Given the description of an element on the screen output the (x, y) to click on. 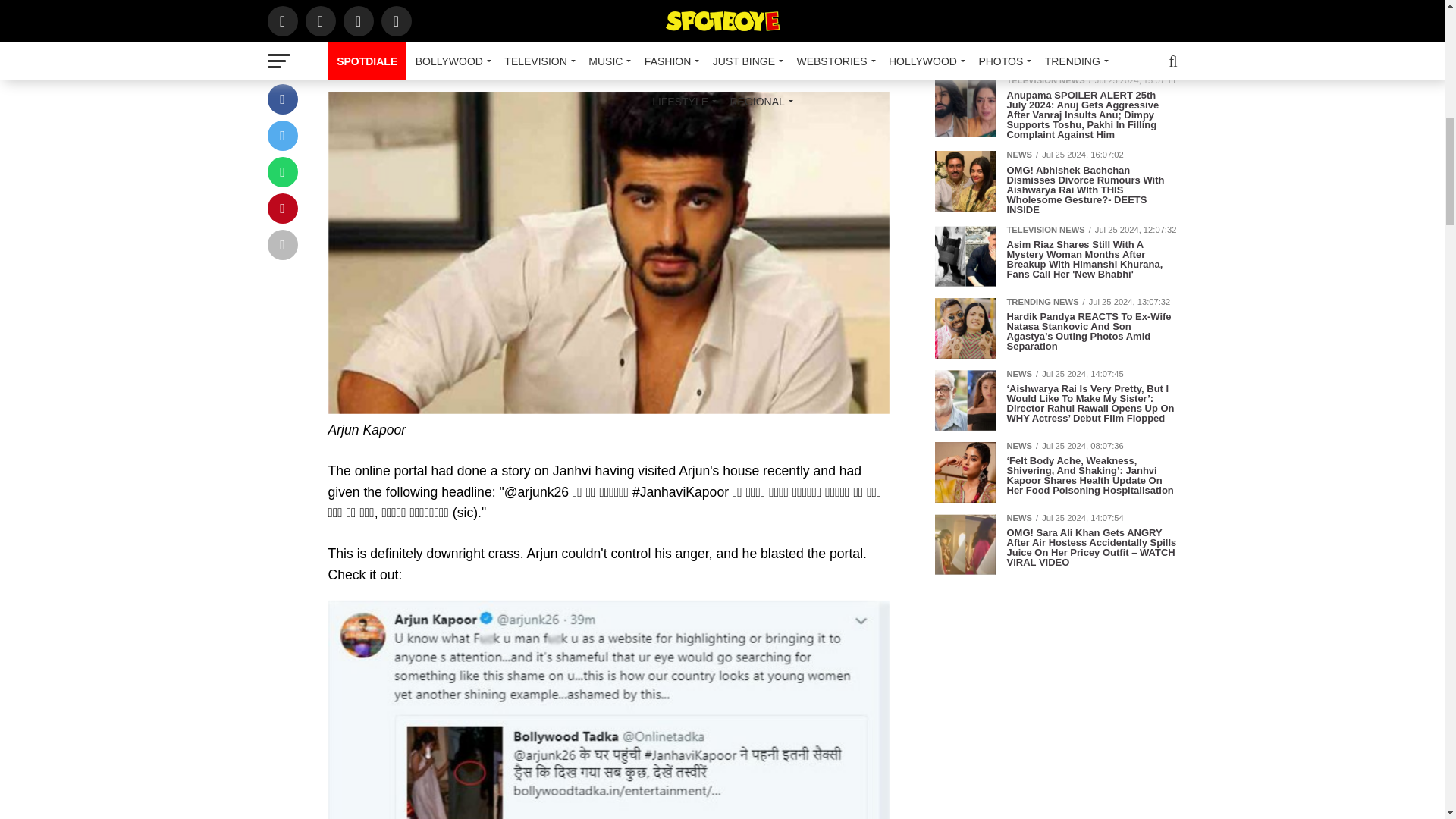
Arjun Kapoor Tweet (607, 709)
